Given the description of an element on the screen output the (x, y) to click on. 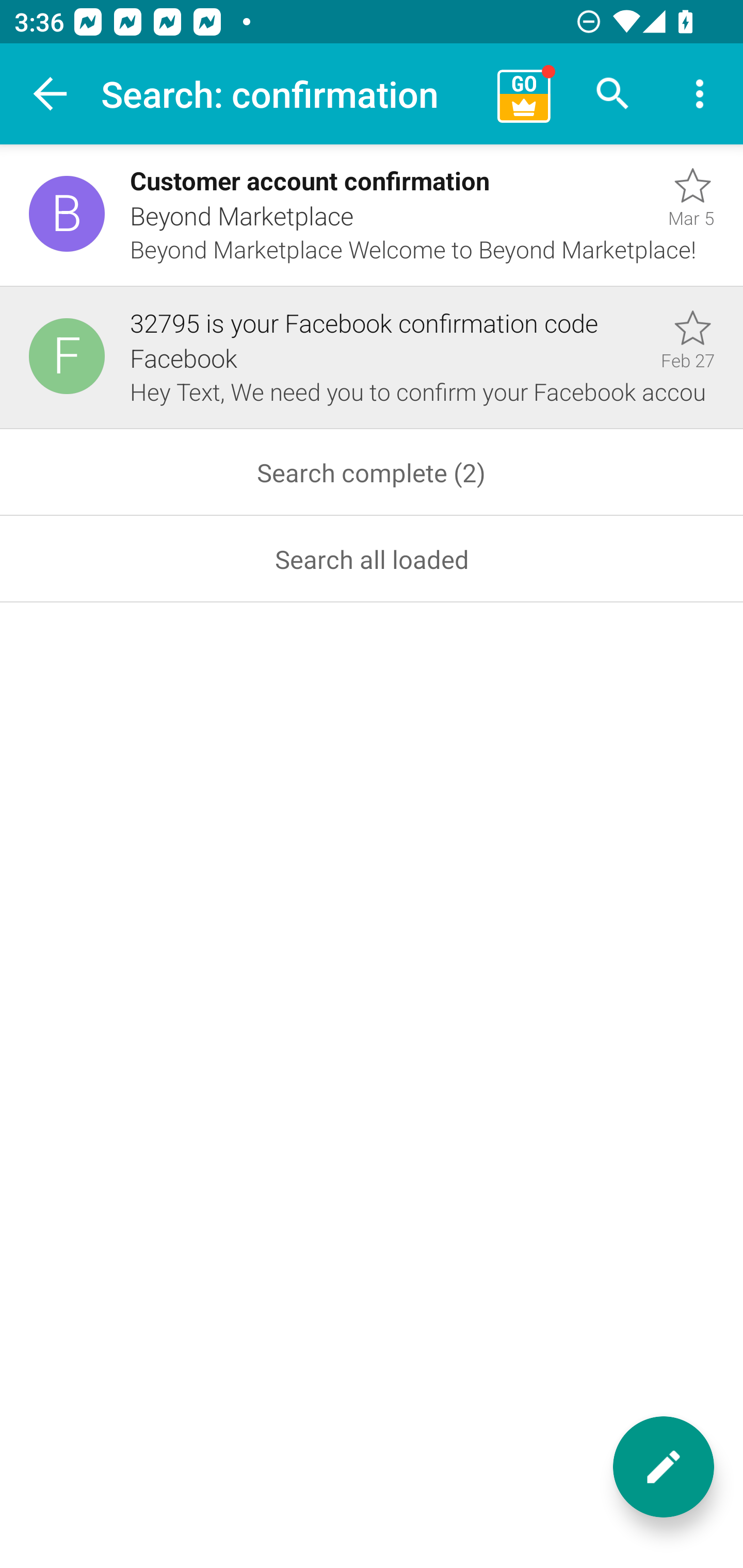
Navigate up (50, 93)
Search (612, 93)
More options (699, 93)
Search complete (2) (371, 472)
Search all loaded (371, 558)
New message (663, 1466)
